Given the description of an element on the screen output the (x, y) to click on. 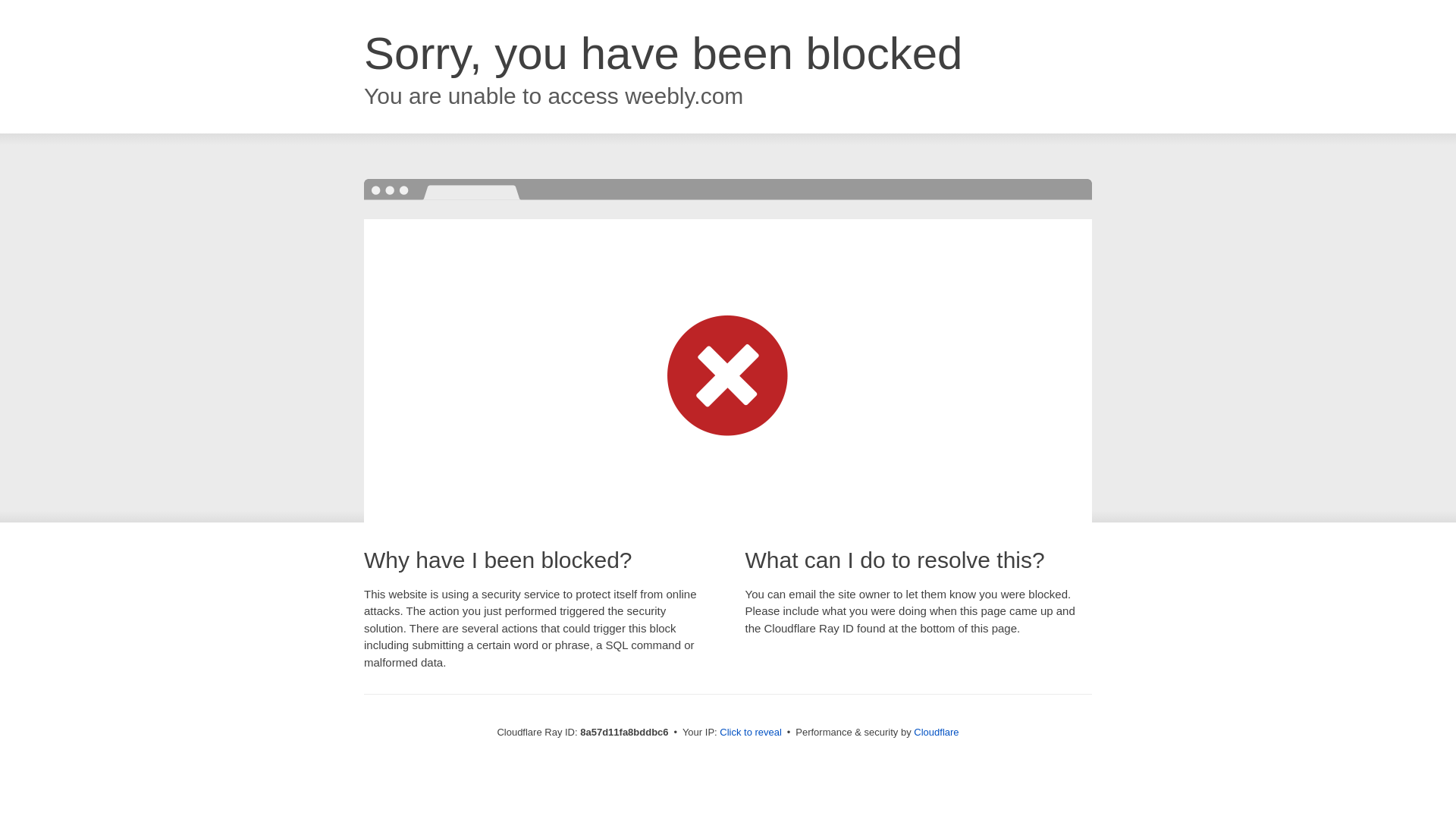
Cloudflare (936, 731)
Click to reveal (750, 732)
